Given the description of an element on the screen output the (x, y) to click on. 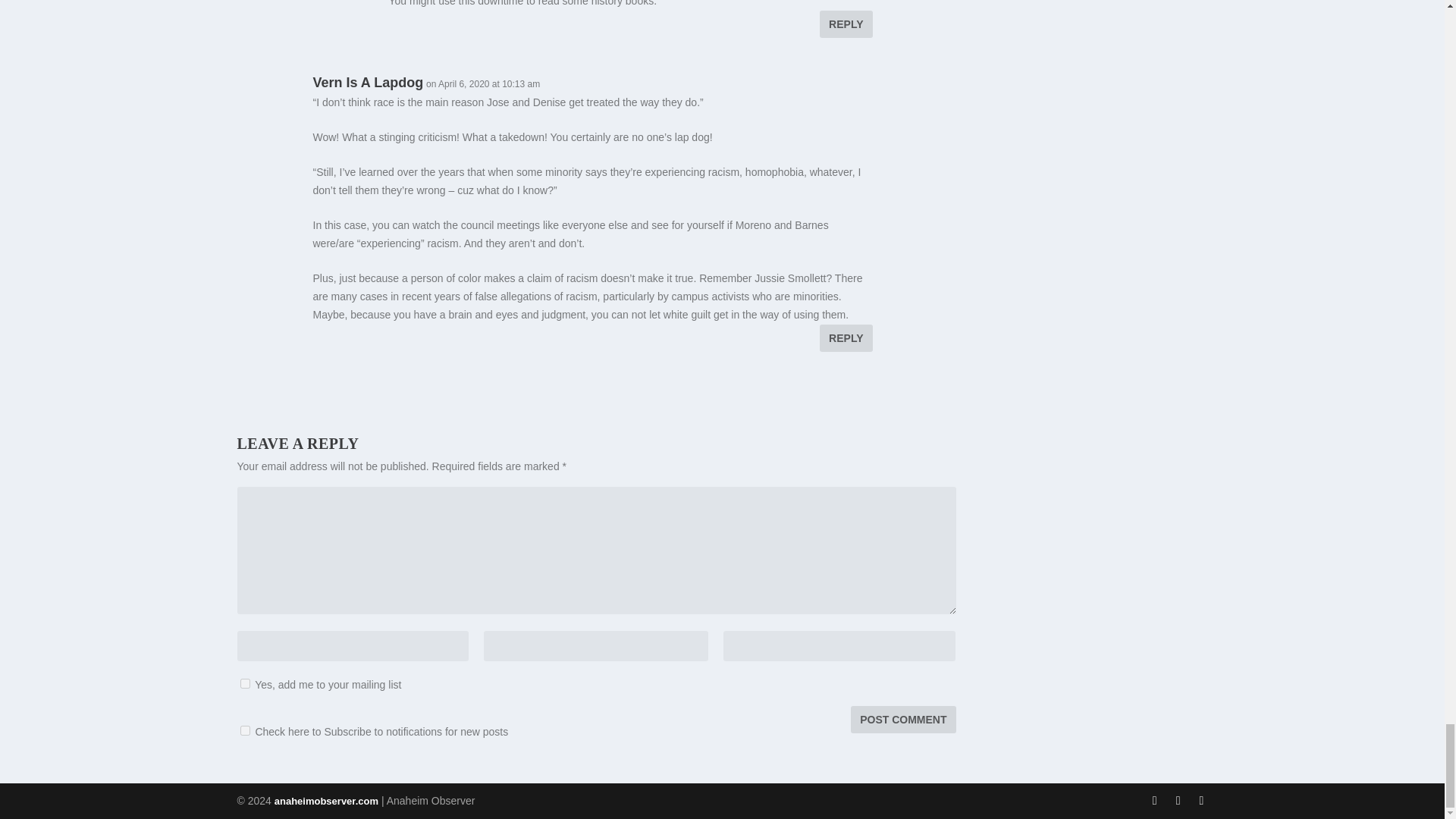
Post Comment (902, 718)
1 (244, 730)
1 (244, 682)
